Given the description of an element on the screen output the (x, y) to click on. 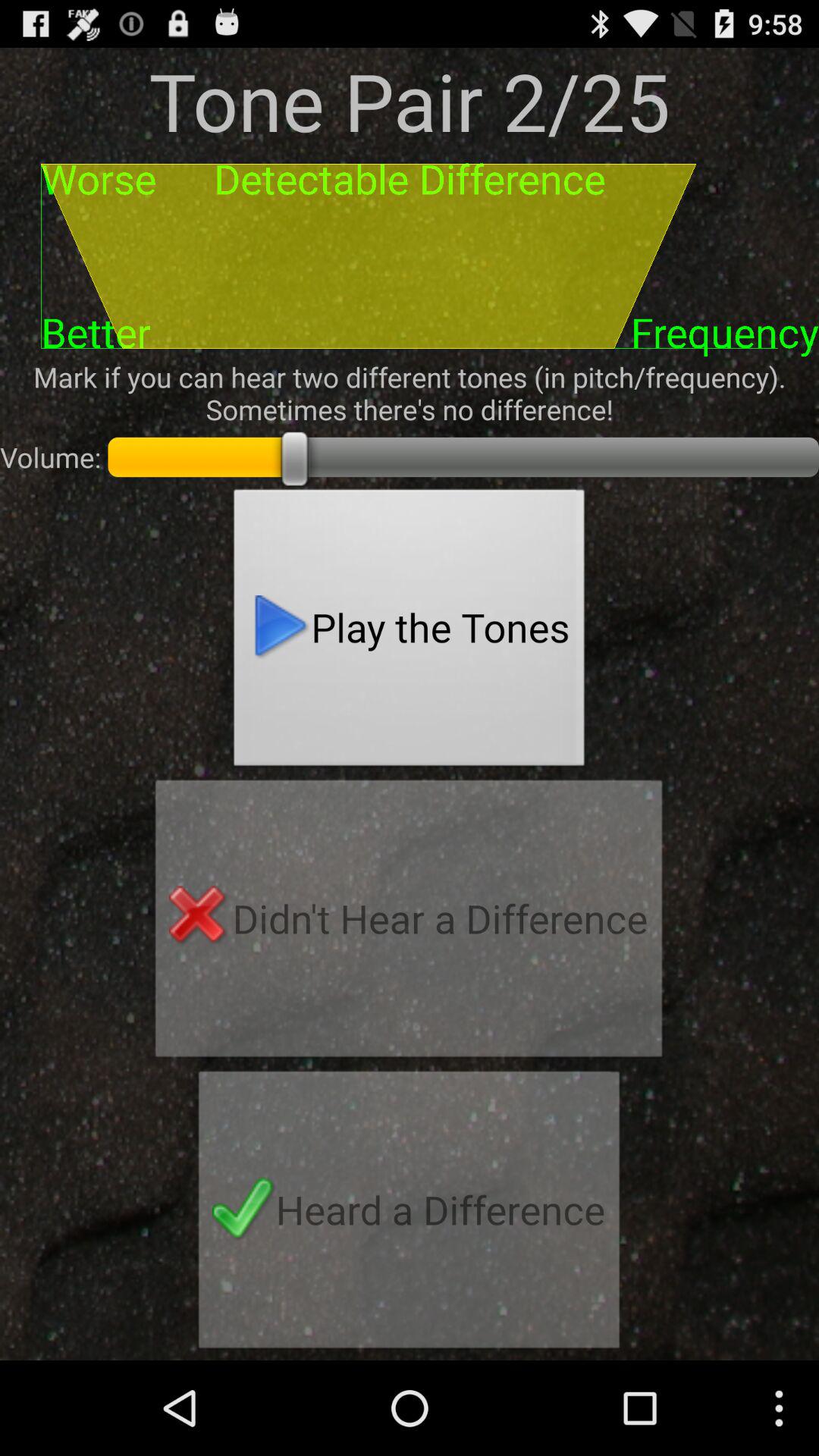
jump until the play the tones button (409, 631)
